Given the description of an element on the screen output the (x, y) to click on. 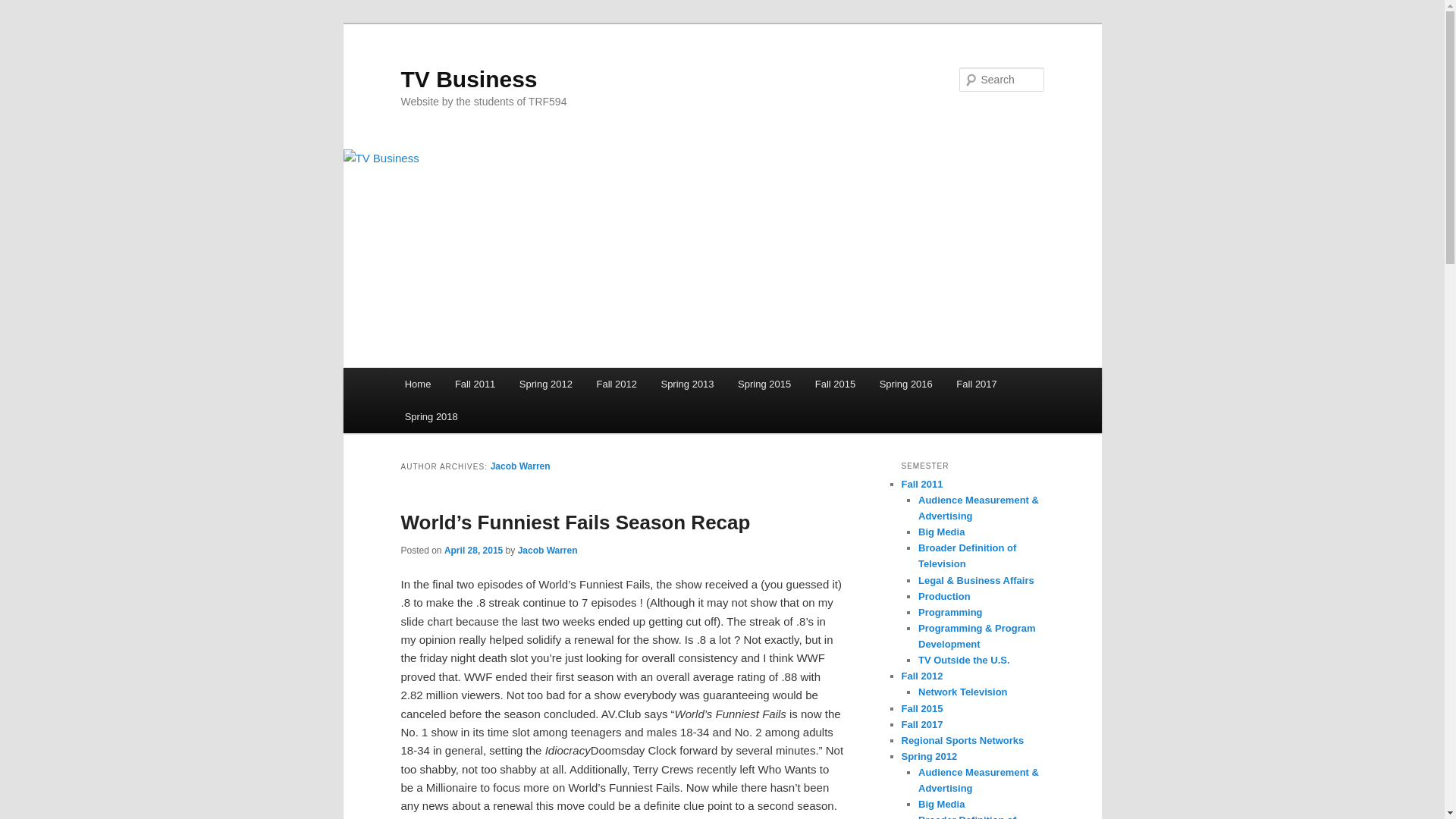
Spring 2012 (545, 383)
8:42 pm (473, 550)
Search (24, 8)
Spring 2018 (431, 416)
Jacob Warren (520, 466)
Spring 2015 (764, 383)
Fall 2017 (976, 383)
TV Business (468, 78)
Fall 2015 (835, 383)
View all posts by Jacob Warren (548, 550)
Spring 2013 (687, 383)
Fall 2011 (474, 383)
Home (417, 383)
April 28, 2015 (473, 550)
Spring 2016 (905, 383)
